Given the description of an element on the screen output the (x, y) to click on. 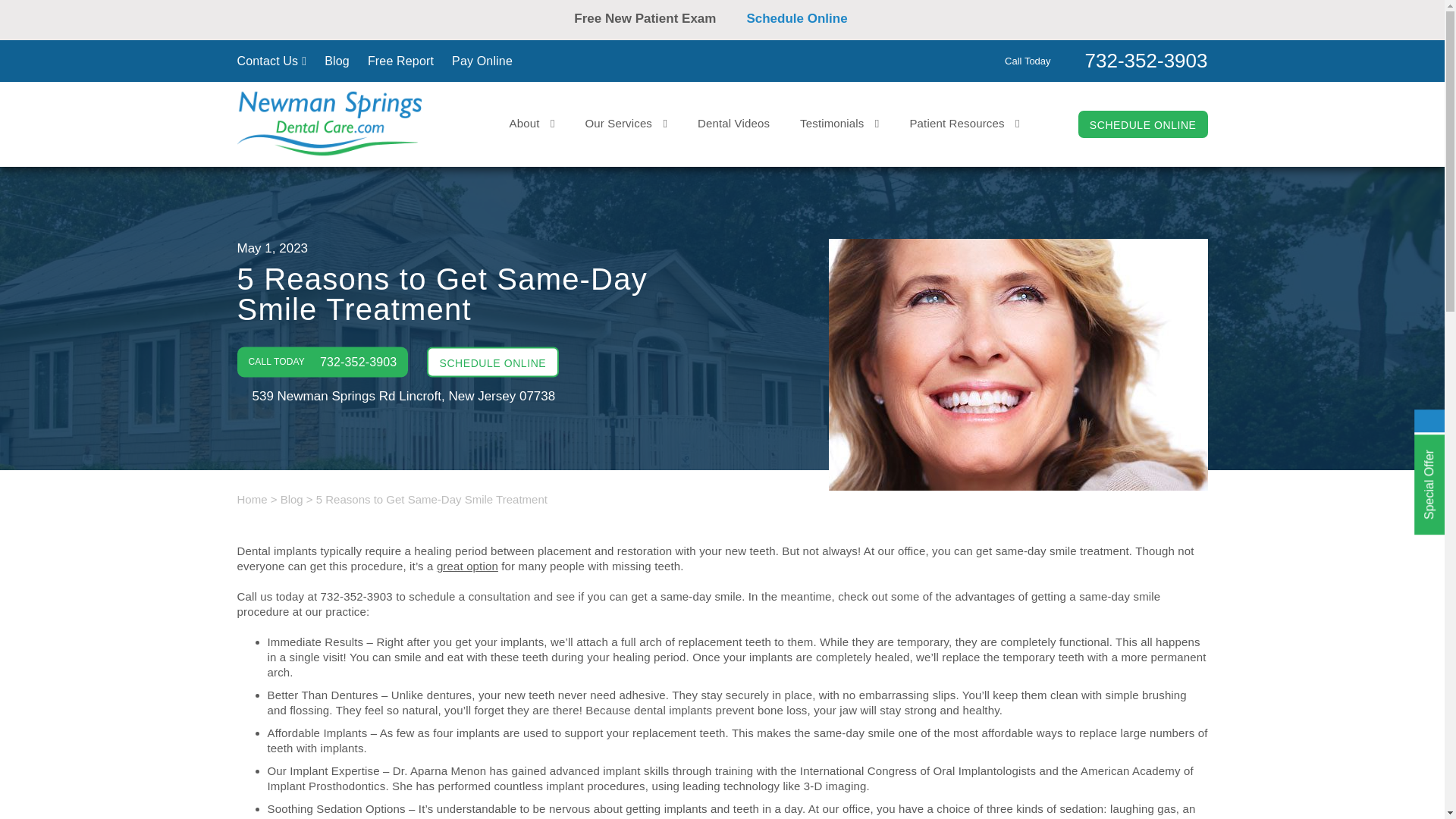
Schedule Online (791, 33)
Free Report (400, 60)
Contact Us (270, 60)
Free New Patient Exam (651, 18)
Schedule Online (807, 18)
Blog (336, 60)
Pay Online (481, 60)
Call Today732-352-3903 (1105, 59)
Whitening for Life (652, 33)
